Given the description of an element on the screen output the (x, y) to click on. 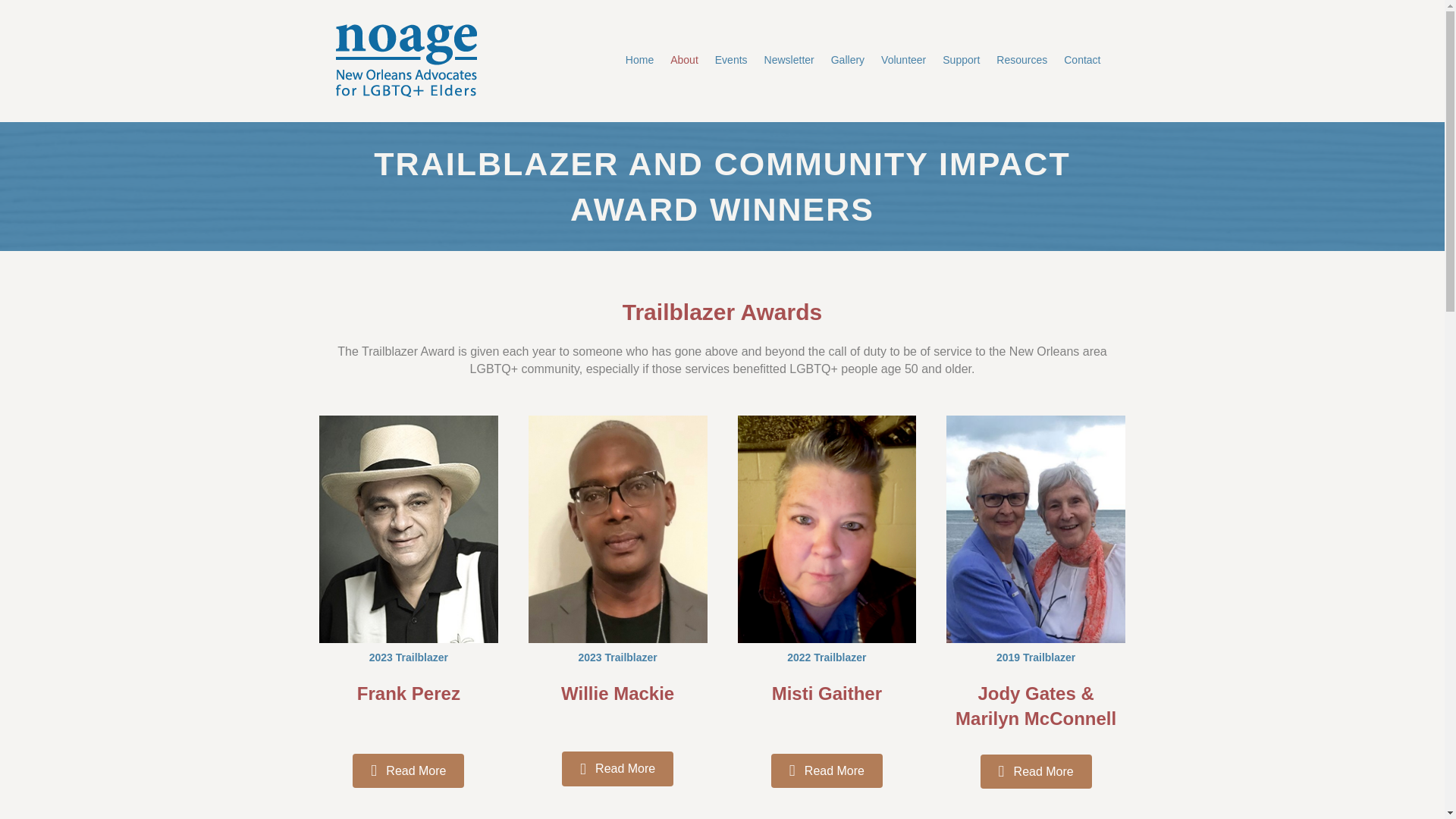
Events (730, 60)
Resources (1021, 60)
Gallery (847, 60)
Read More (408, 770)
Support (961, 60)
About (684, 60)
Read More (617, 768)
Volunteer (903, 60)
Read More (1035, 771)
Read More (826, 770)
